Given the description of an element on the screen output the (x, y) to click on. 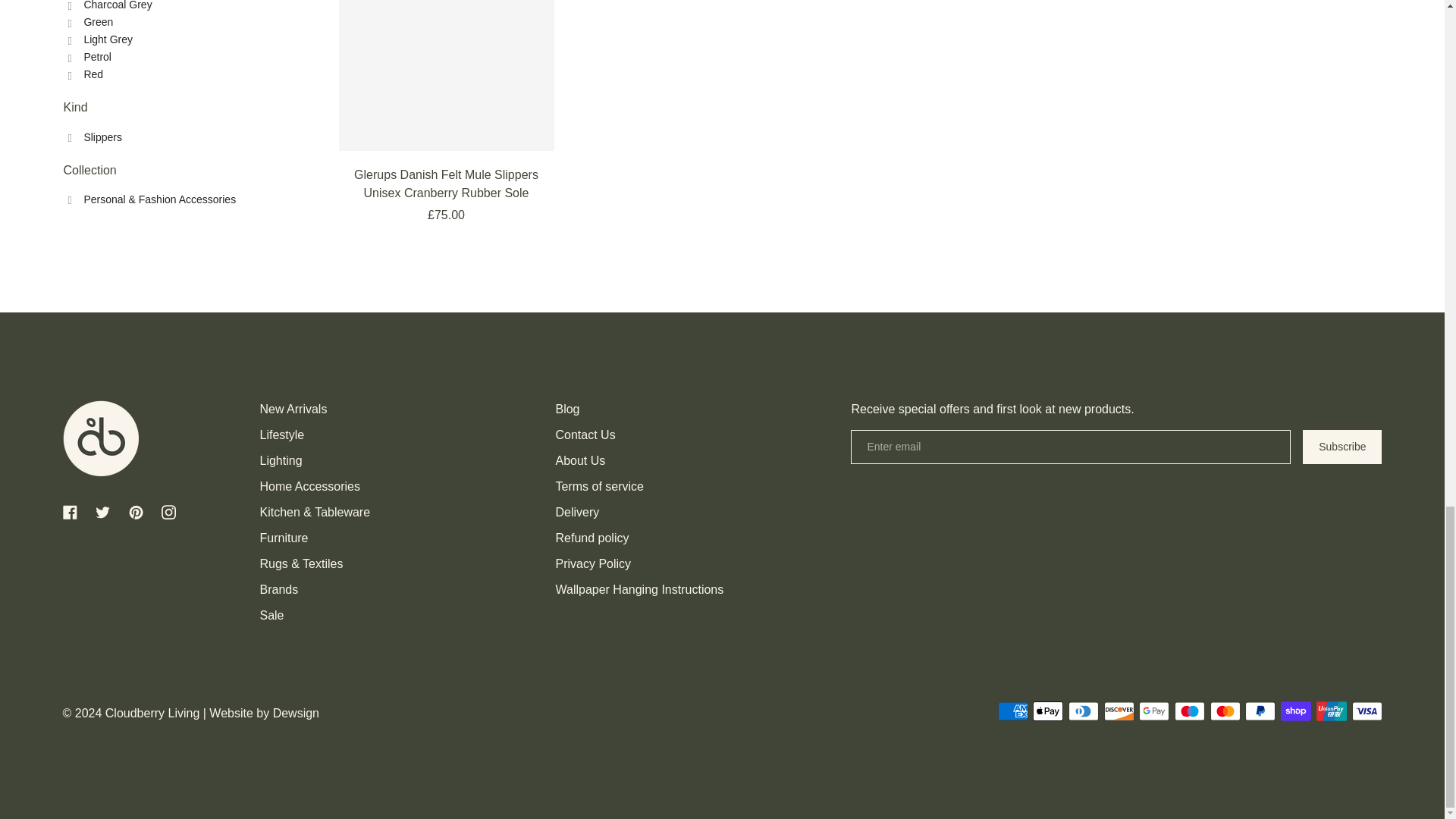
PayPal (1259, 711)
Apple Pay (1047, 711)
American Express (1012, 711)
Discover (1118, 711)
Shop Pay (1296, 711)
Google Pay (1153, 711)
Union Pay (1331, 711)
Mastercard (1224, 711)
Visa (1366, 711)
Maestro (1189, 711)
